Given the description of an element on the screen output the (x, y) to click on. 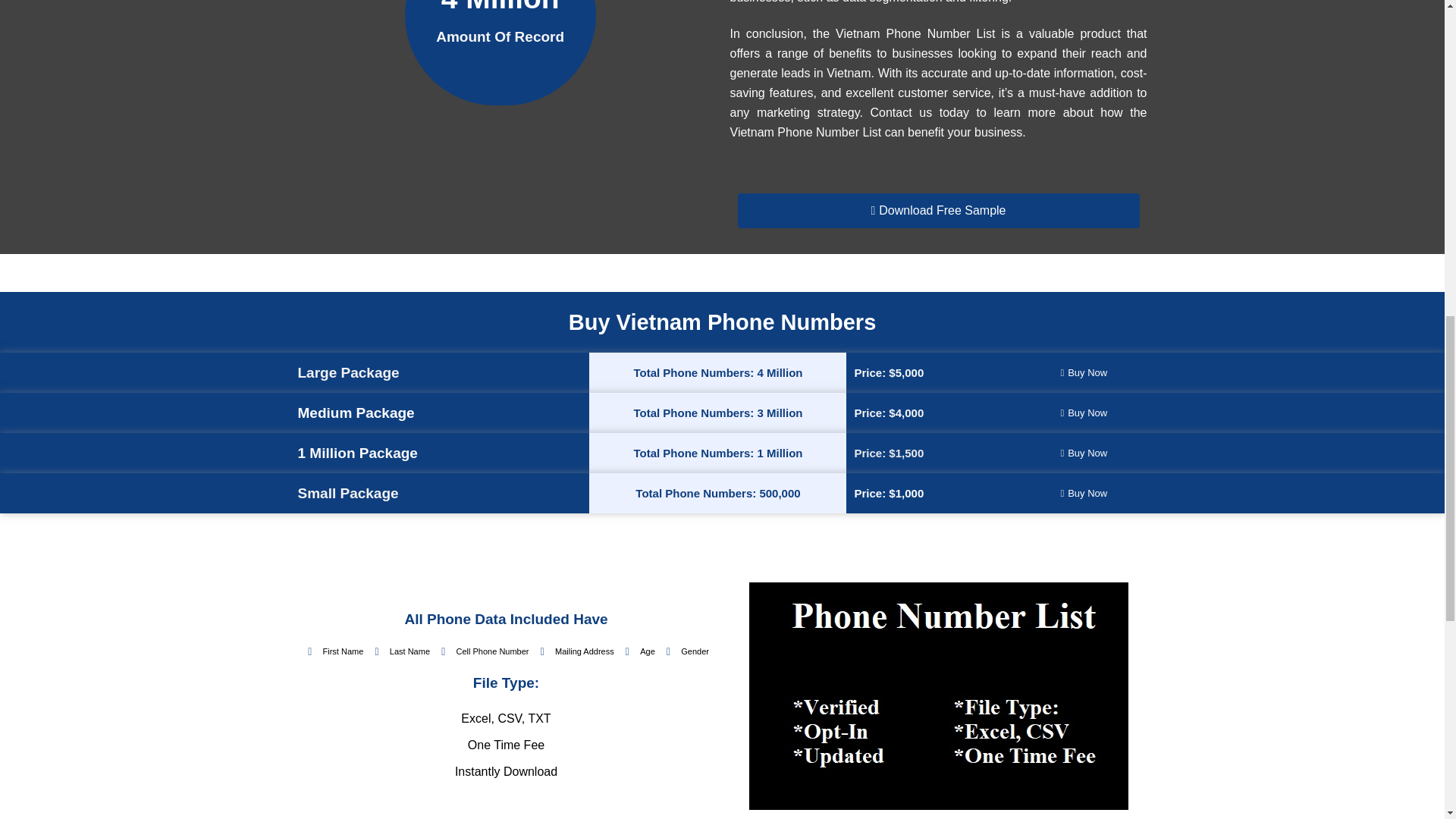
Buy Now (1083, 493)
Buy Now (1083, 453)
Buy Now (1083, 372)
Download Free Sample (937, 210)
Buy Now (1083, 412)
